Given the description of an element on the screen output the (x, y) to click on. 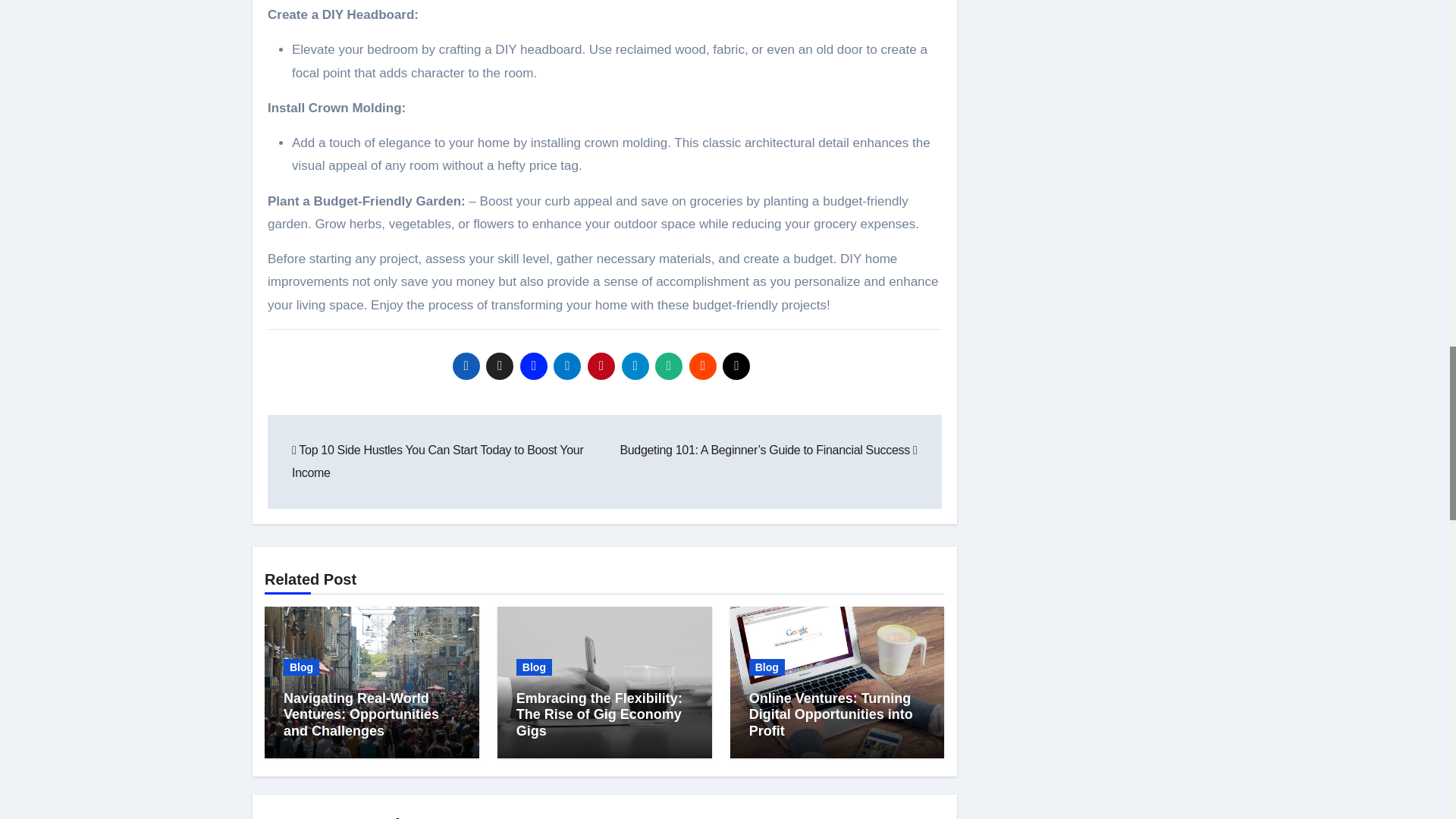
Blog (533, 667)
Top 10 Side Hustles You Can Start Today to Boost Your Income (437, 461)
Embracing the Flexibility: The Rise of Gig Economy Gigs (599, 714)
Navigating Real-World Ventures: Opportunities and Challenges (361, 714)
Blog (300, 667)
